Given the description of an element on the screen output the (x, y) to click on. 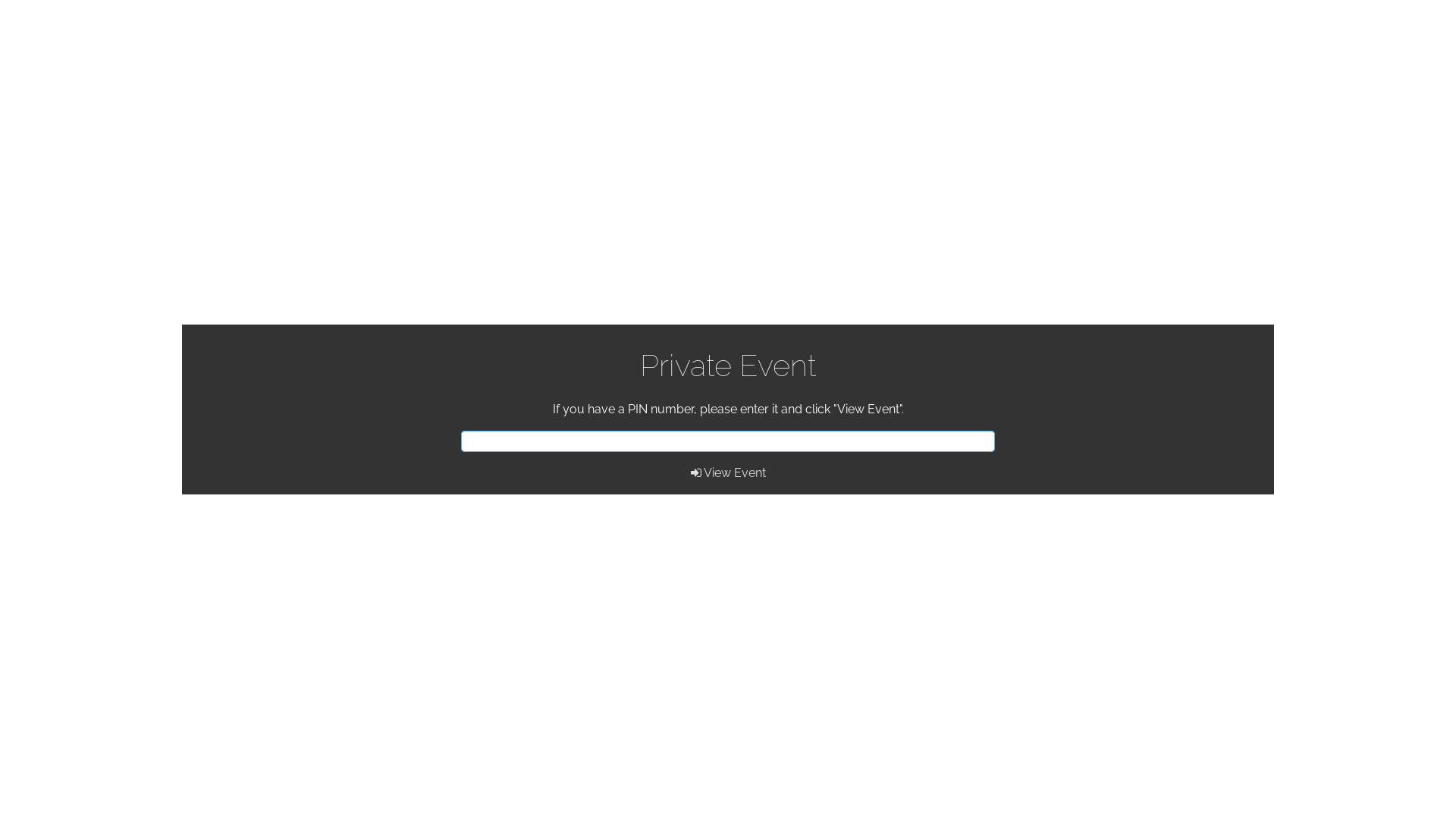
View Event Element type: text (727, 472)
